Given the description of an element on the screen output the (x, y) to click on. 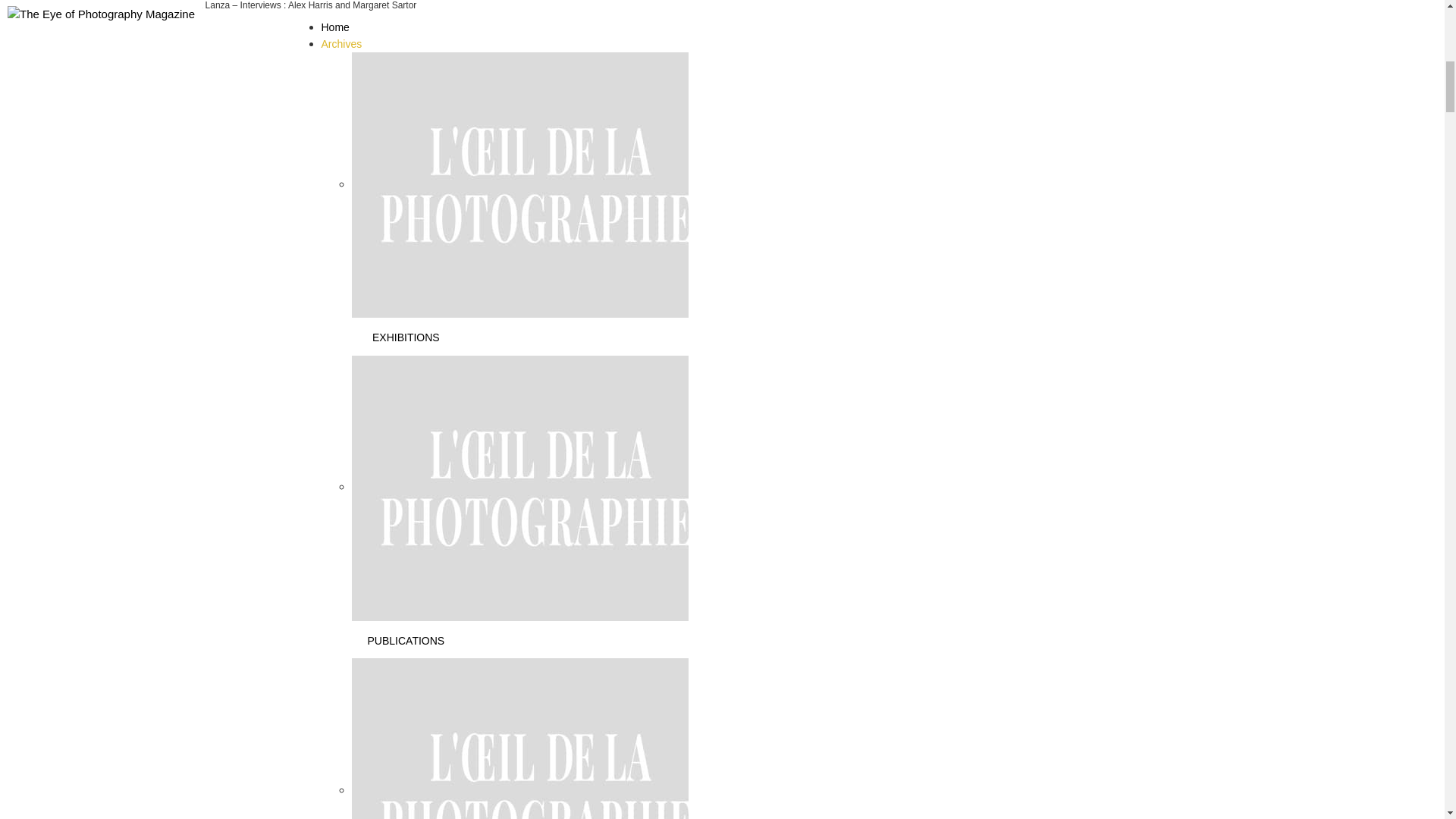
Exhibitions (541, 184)
Publications (541, 486)
News (541, 789)
